Given the description of an element on the screen output the (x, y) to click on. 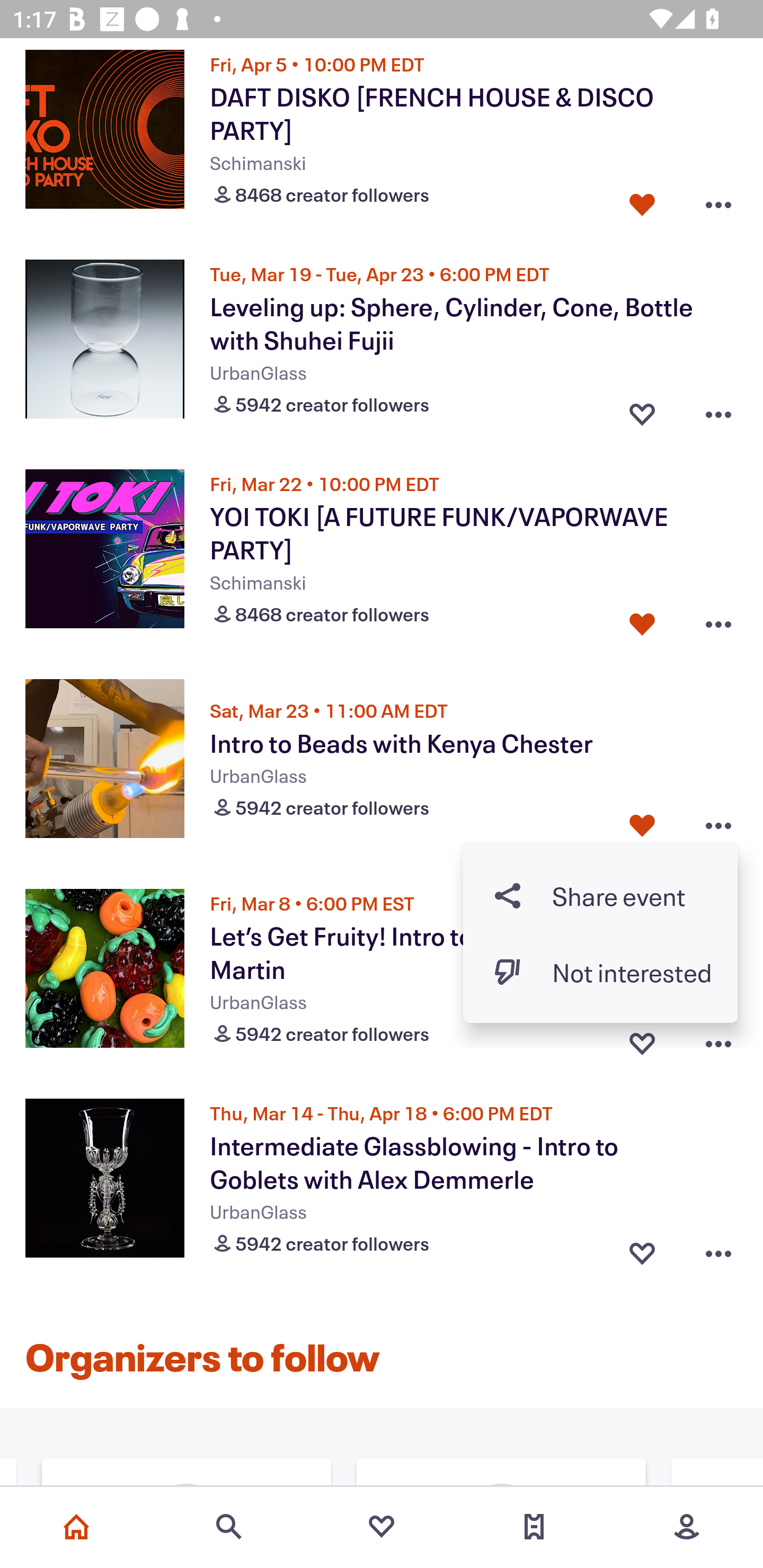
Share button Share event (600, 895)
Dislike event button Not interested (600, 971)
